Given the description of an element on the screen output the (x, y) to click on. 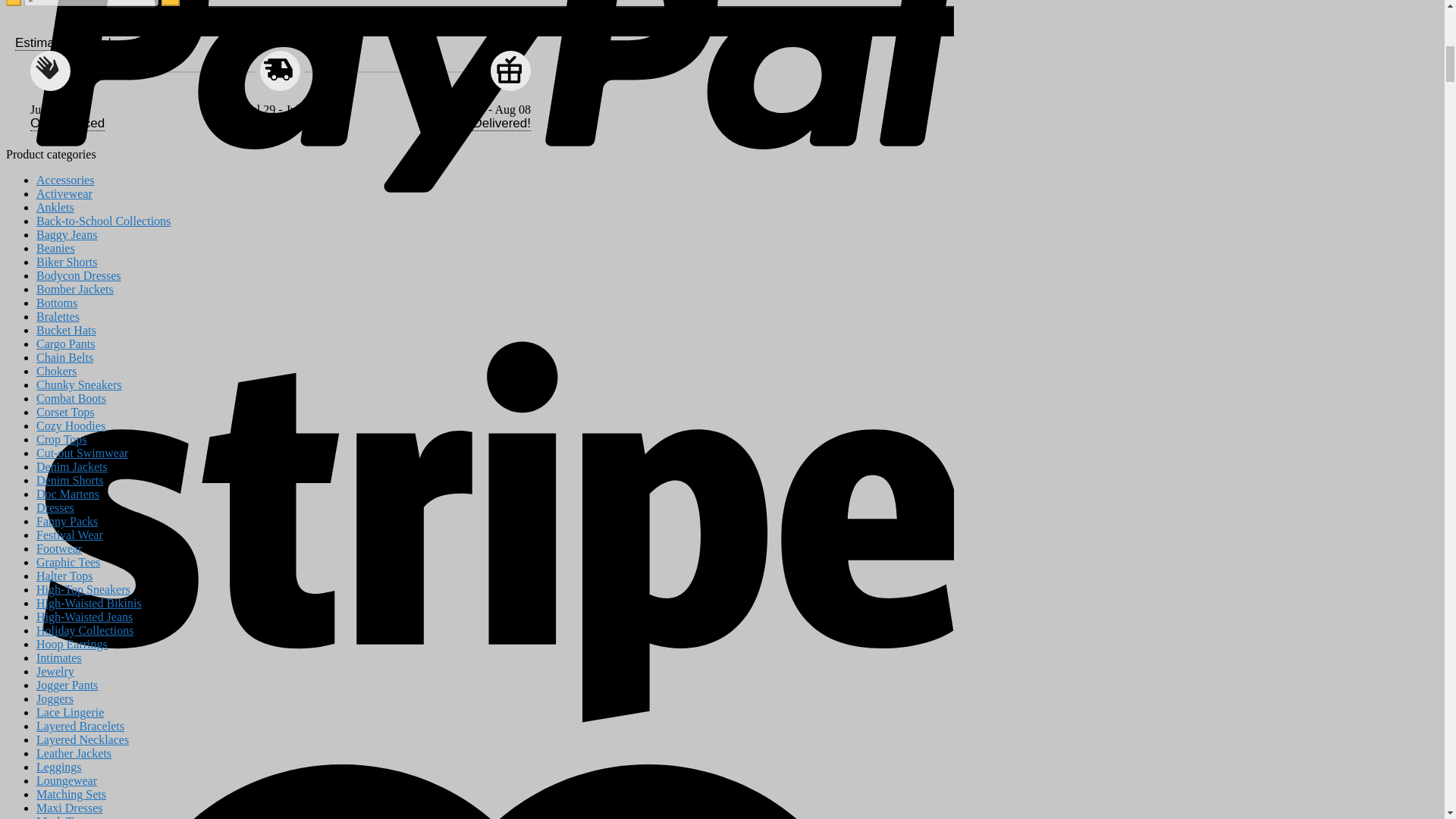
- (13, 2)
1 (91, 2)
Bucket Hats (66, 329)
Bomber Jackets (74, 288)
Crop Tops (61, 439)
Accessories (65, 179)
Chunky Sneakers (78, 384)
Biker Shorts (66, 261)
Corset Tops (65, 411)
Activewear (64, 193)
Beanies (55, 247)
Anklets (55, 206)
Combat Boots (71, 398)
Qty (91, 2)
Bralettes (58, 316)
